Given the description of an element on the screen output the (x, y) to click on. 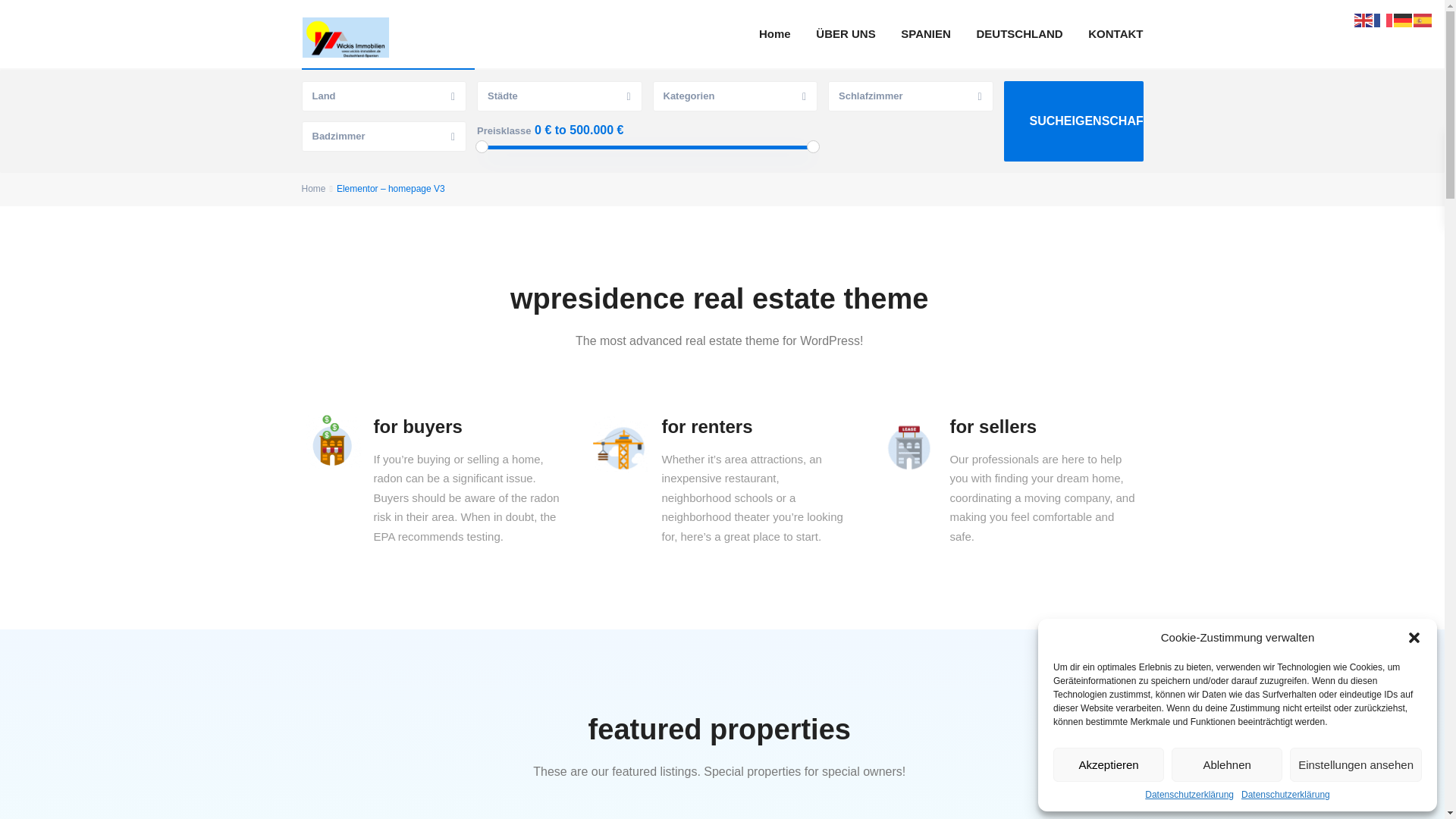
Ablehnen (1227, 764)
SUCHEIGENSCHAFTEN (1073, 121)
Akzeptieren (1107, 764)
English (1364, 19)
Deutsch (1403, 19)
Einstellungen ansehen (1356, 764)
